Given the description of an element on the screen output the (x, y) to click on. 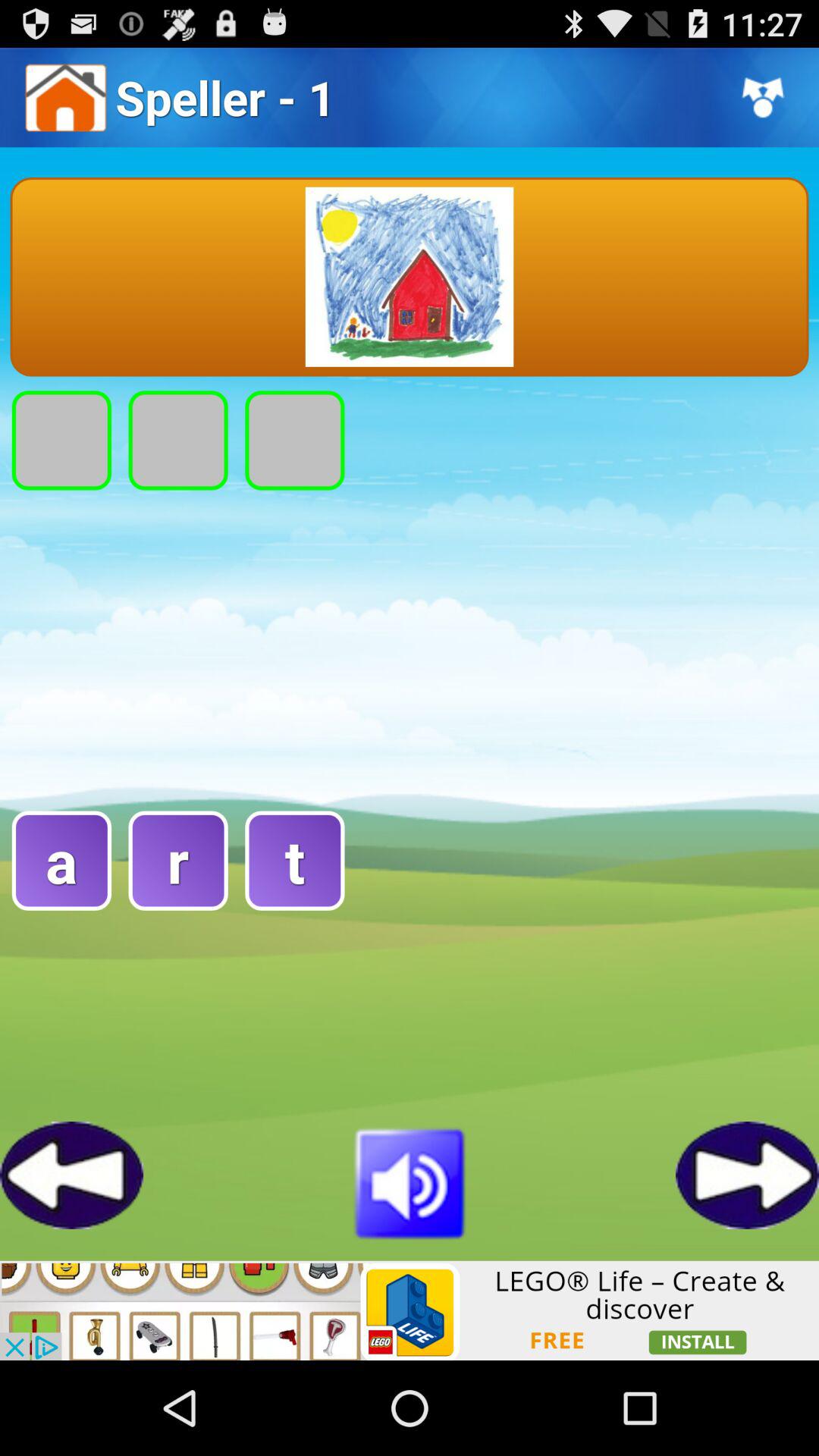
advertisement page (409, 1310)
